Given the description of an element on the screen output the (x, y) to click on. 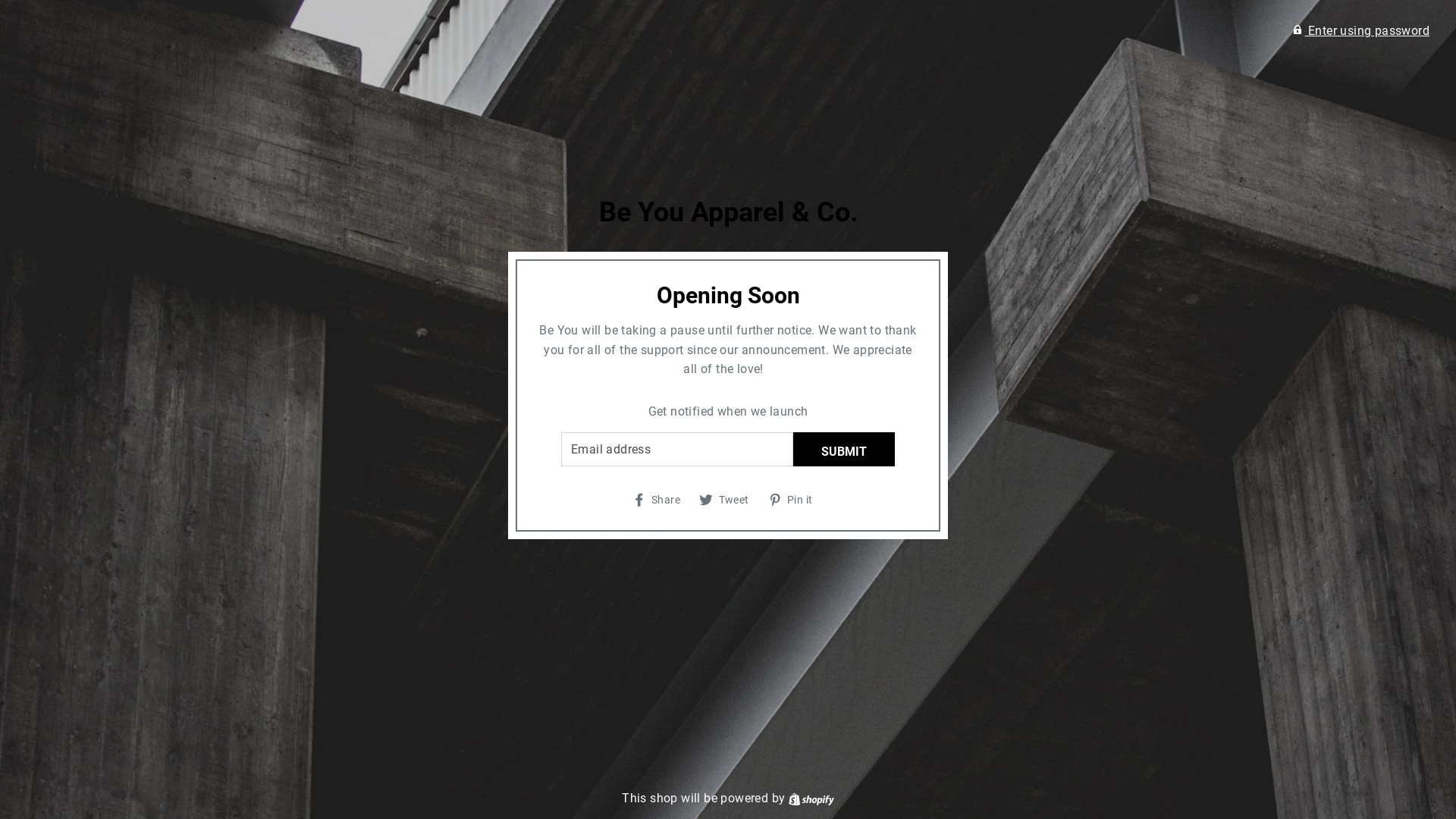
SUBMIT Element type: text (843, 449)
Tweet
Tweet on Twitter Element type: text (729, 498)
Shopify Element type: text (811, 797)
Enter using password Element type: text (1360, 30)
Pin it
Pin on Pinterest Element type: text (795, 498)
Share
Share on Facebook Element type: text (661, 498)
